Given the description of an element on the screen output the (x, y) to click on. 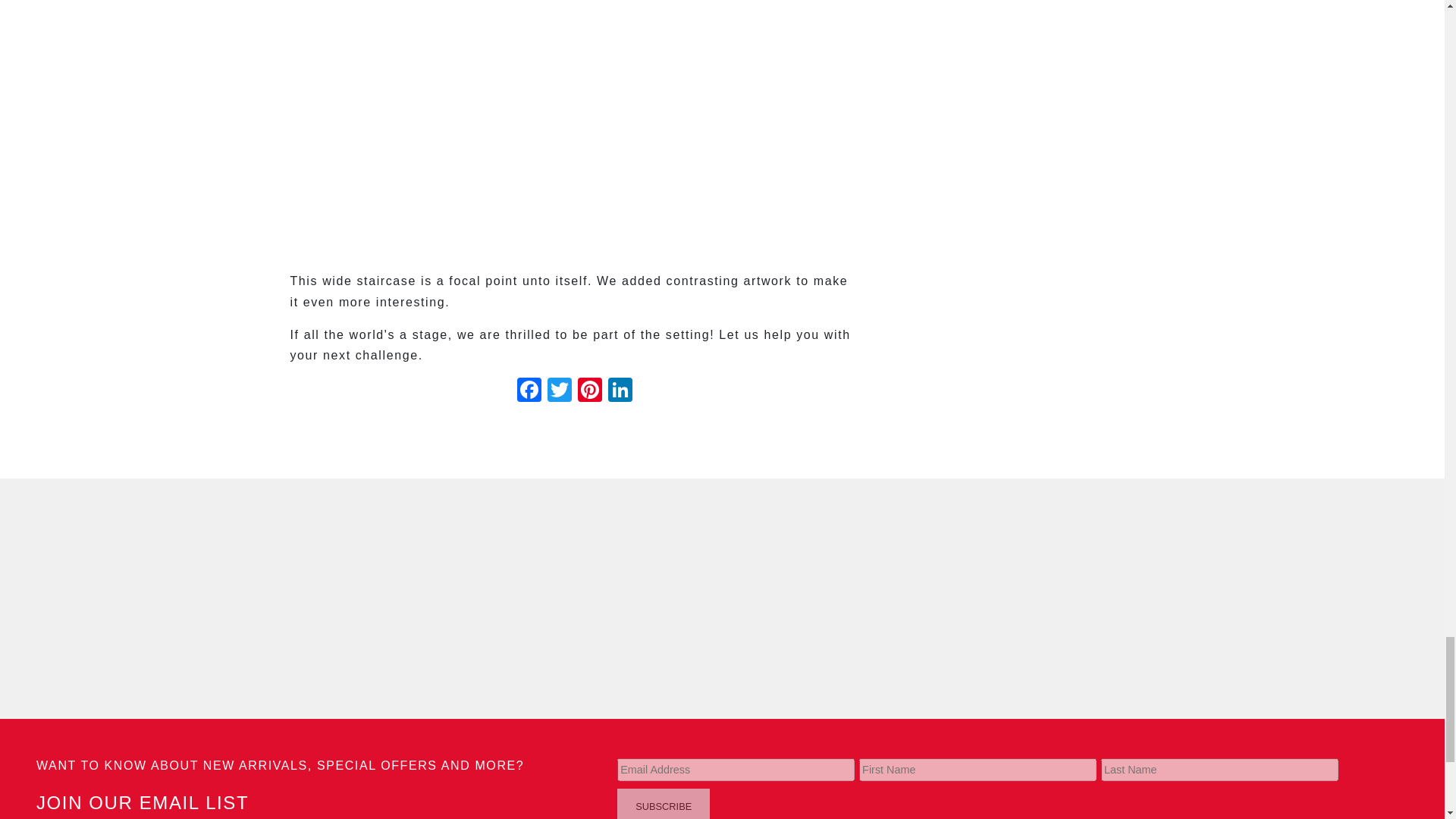
Twitter (559, 391)
Pinterest (590, 391)
Facebook (528, 391)
Facebook (528, 391)
LinkedIn (619, 391)
Twitter (559, 391)
Pinterest (590, 391)
LinkedIn (619, 391)
Subscribe (663, 803)
